Given the description of an element on the screen output the (x, y) to click on. 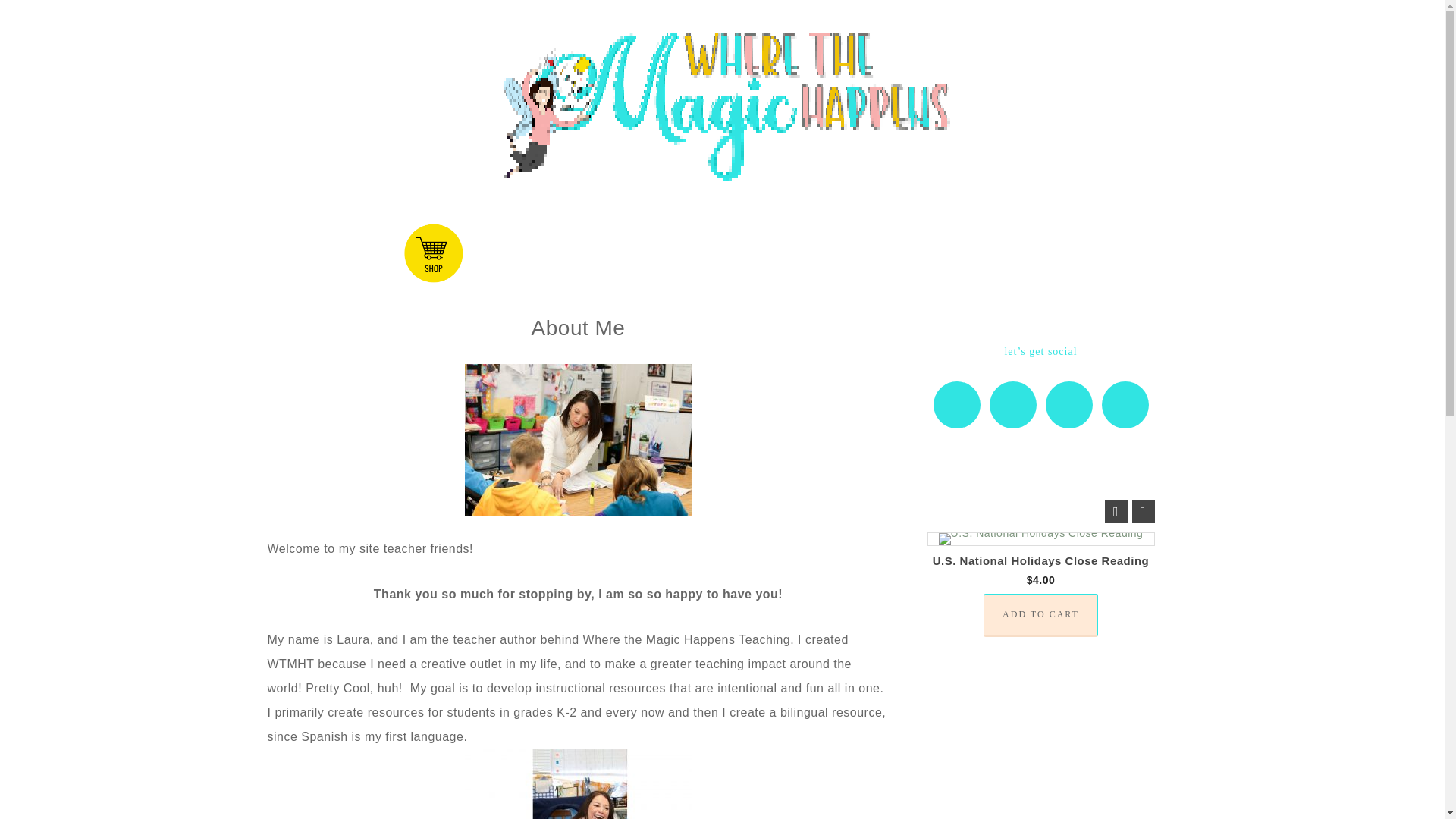
ADD TO CART (1040, 615)
U.S. National Holidays Close Reading (1041, 560)
